Given the description of an element on the screen output the (x, y) to click on. 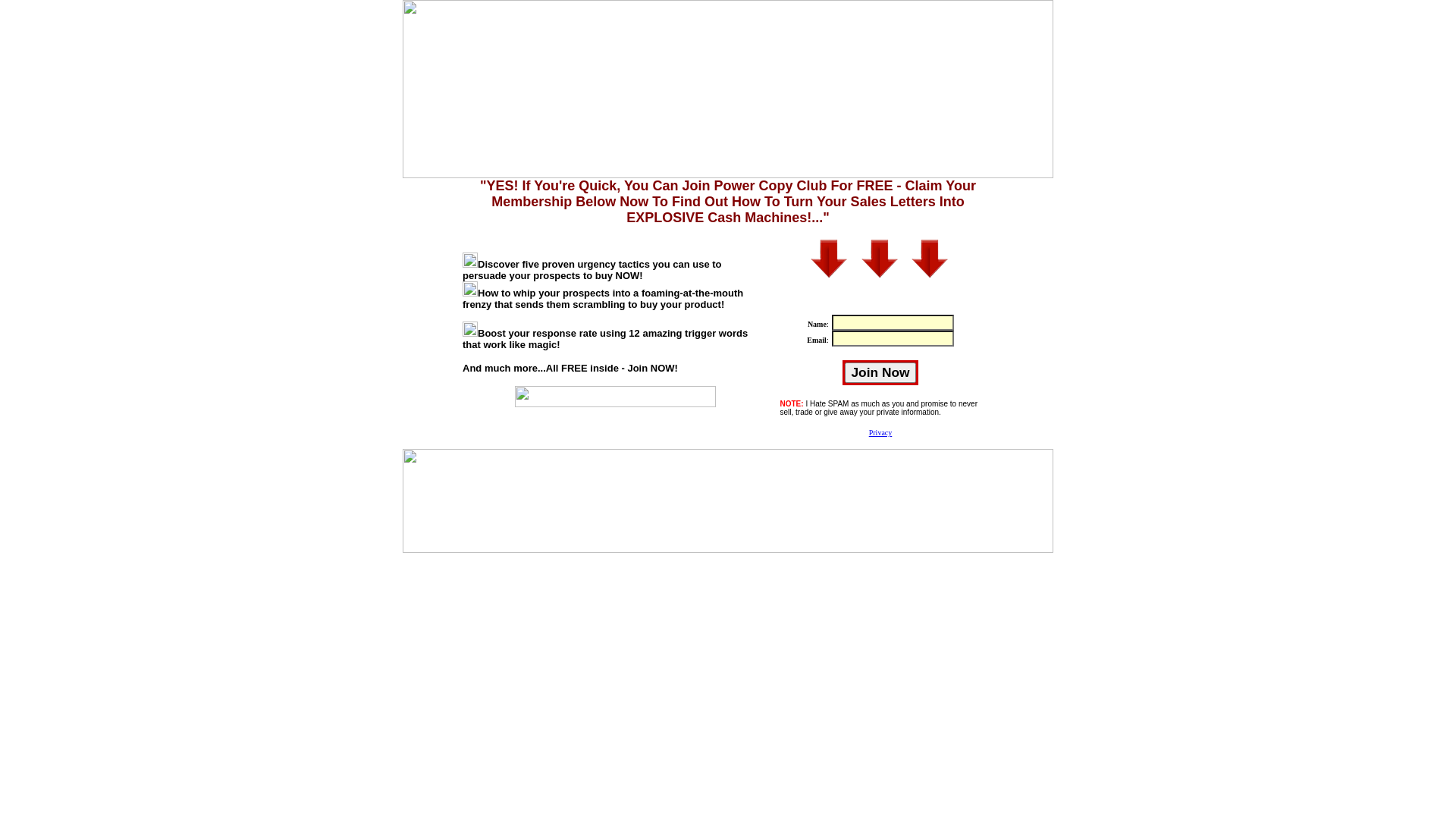
Privacy Element type: text (880, 432)
Join Now Element type: text (879, 372)
